Given the description of an element on the screen output the (x, y) to click on. 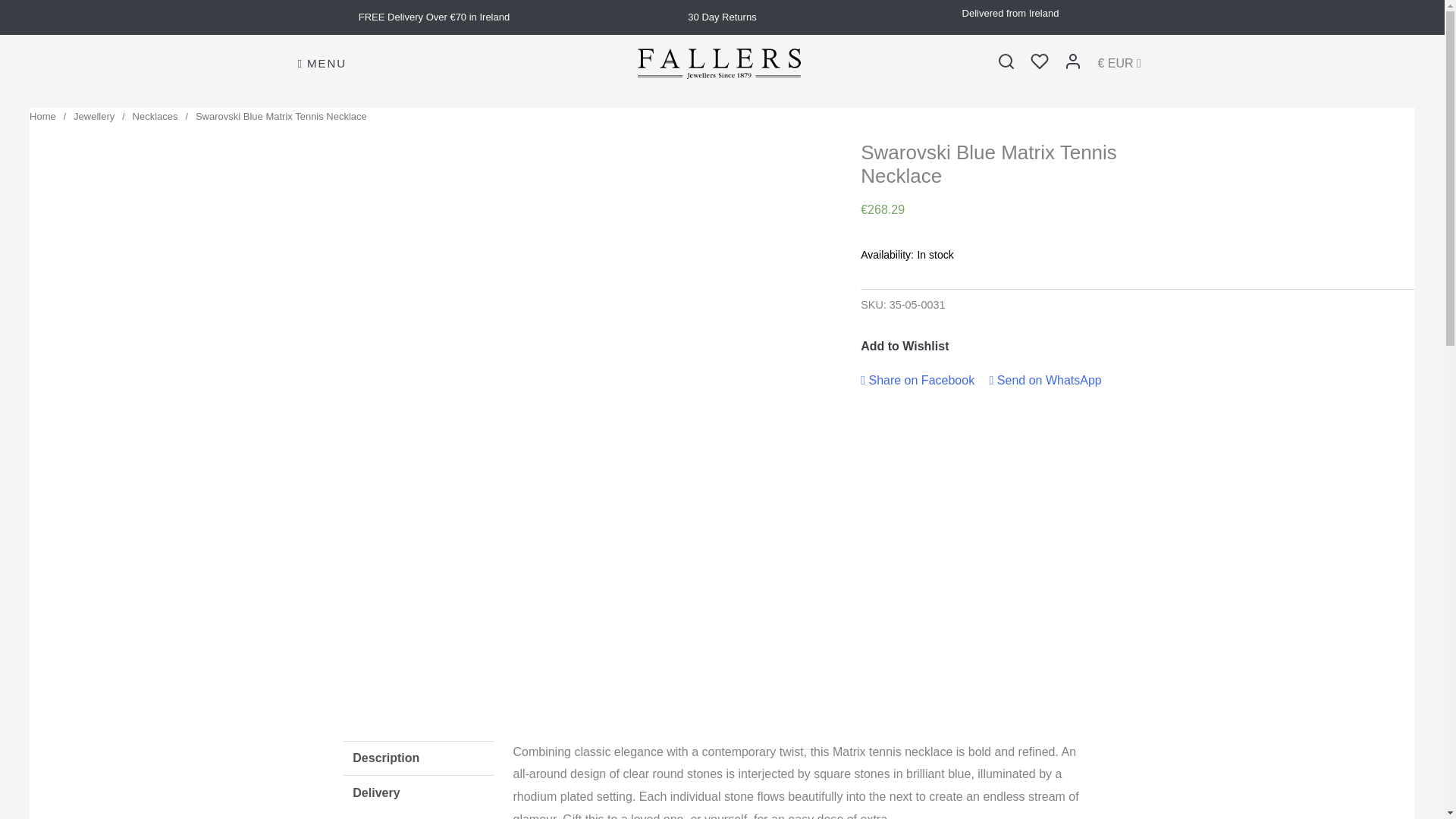
Necklaces (154, 116)
MENU (321, 63)
Share on Facebook (917, 379)
Delivery (418, 792)
Home (42, 116)
Jewellery (94, 116)
Send on WhatsApp (1046, 379)
Add to Wishlist (904, 346)
Description (418, 758)
